Given the description of an element on the screen output the (x, y) to click on. 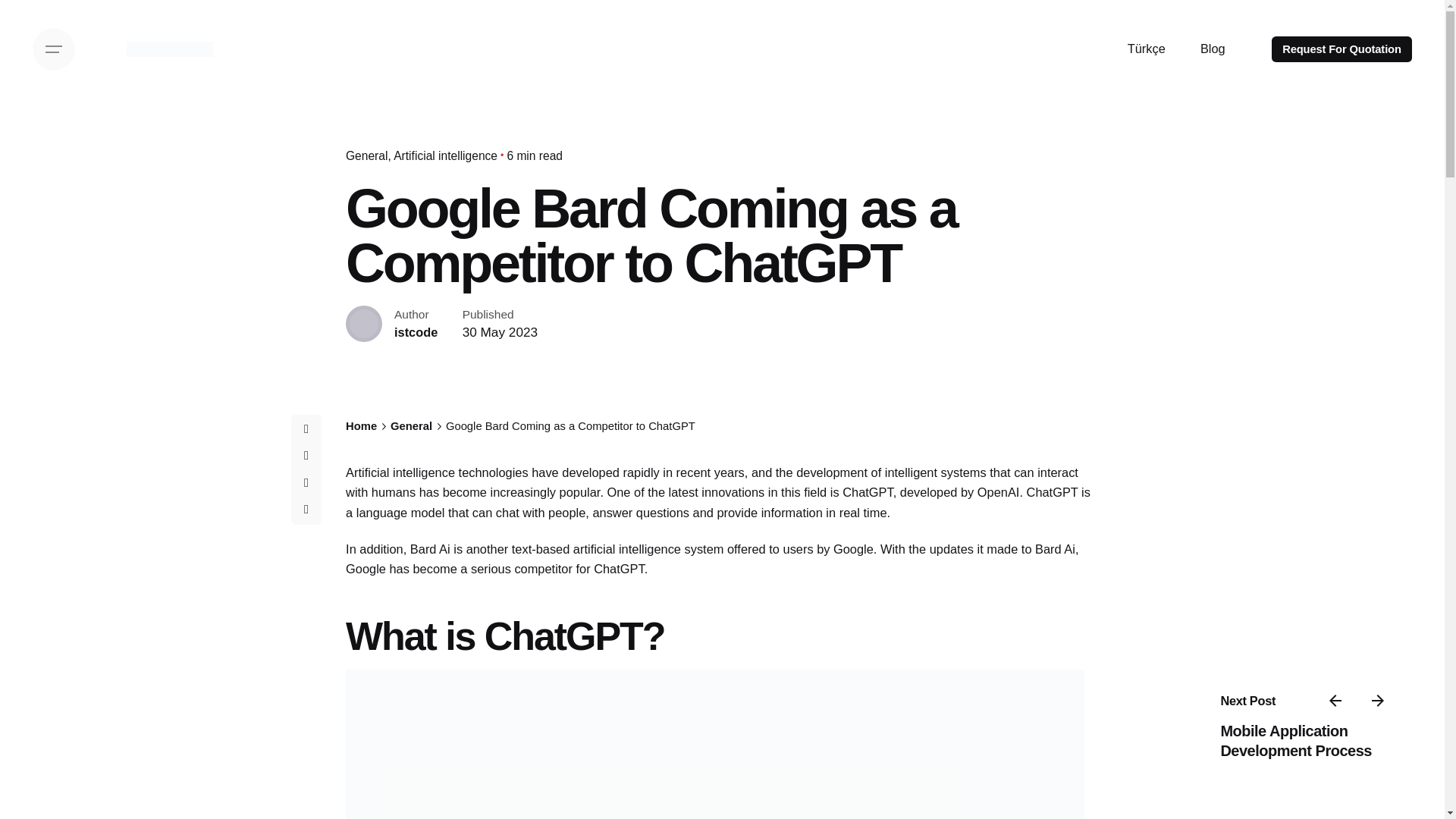
General (368, 155)
Artificial intelligence (445, 155)
Home (361, 426)
Blog (1212, 49)
General (411, 426)
Request For Quotation (1341, 49)
